Given the description of an element on the screen output the (x, y) to click on. 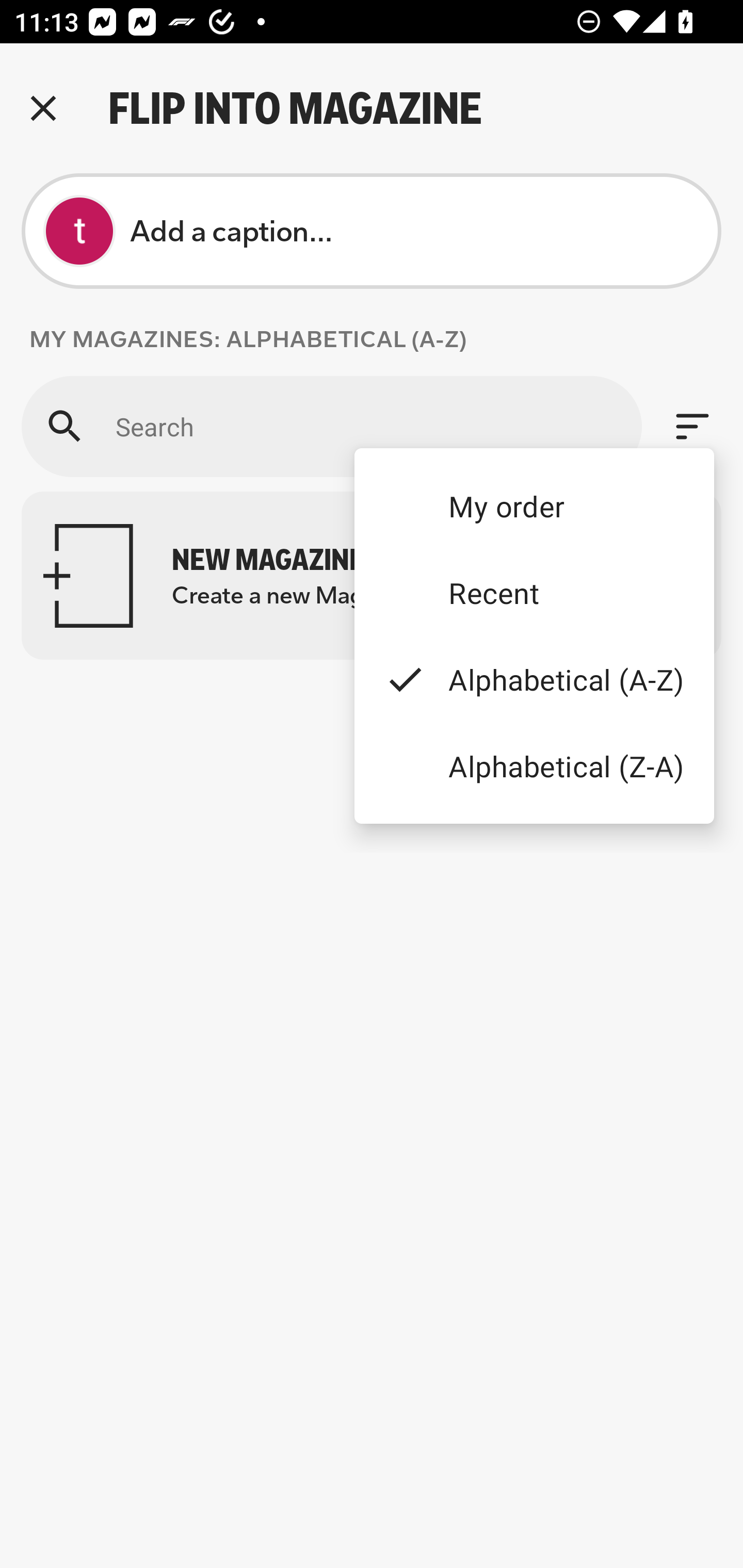
My order (534, 505)
Recent (534, 592)
Alphabetical (A-Z) (534, 679)
Alphabetical (Z-A) (534, 765)
